Given the description of an element on the screen output the (x, y) to click on. 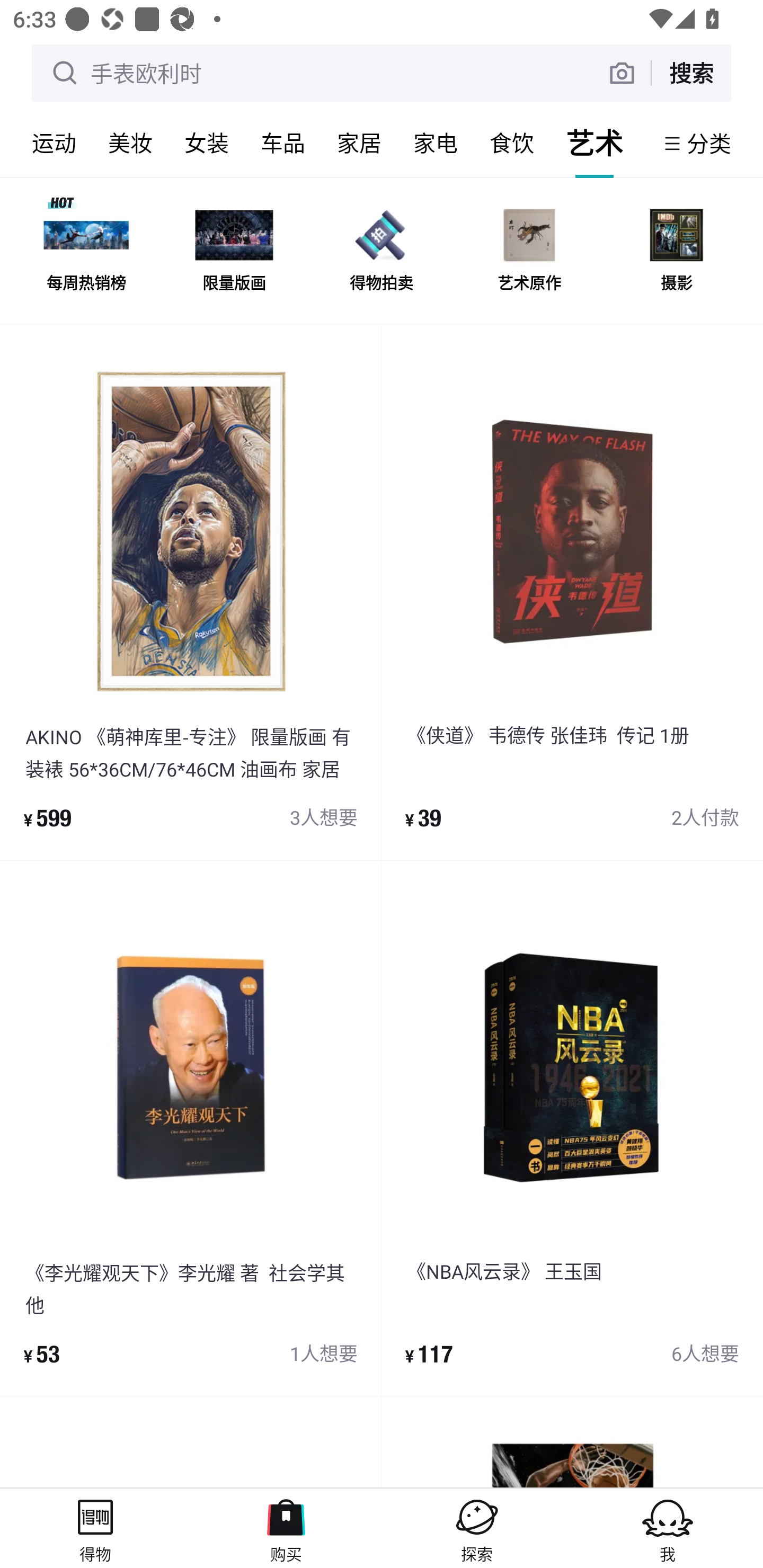
搜索 (690, 72)
运动 (54, 143)
美妆 (130, 143)
女装 (206, 143)
车品 (282, 143)
家居 (359, 143)
家电 (435, 143)
食饮 (511, 143)
艺术 (594, 143)
分类 (708, 143)
每周热销榜 (86, 251)
限量版画 (233, 251)
得物拍卖 (381, 251)
艺术原作 (528, 251)
摄影 (676, 251)
《侠道》 韦德传 张佳玮  传记 1册 ¥ 39 2人付款 (572, 592)
《李光耀观天下》李光耀 著  社会学其
他 ¥ 53 1人想要 (190, 1128)
《NBA风云录》 王玉国 ¥ 117 6人想要 (572, 1128)
得物 (95, 1528)
购买 (285, 1528)
探索 (476, 1528)
我 (667, 1528)
